Given the description of an element on the screen output the (x, y) to click on. 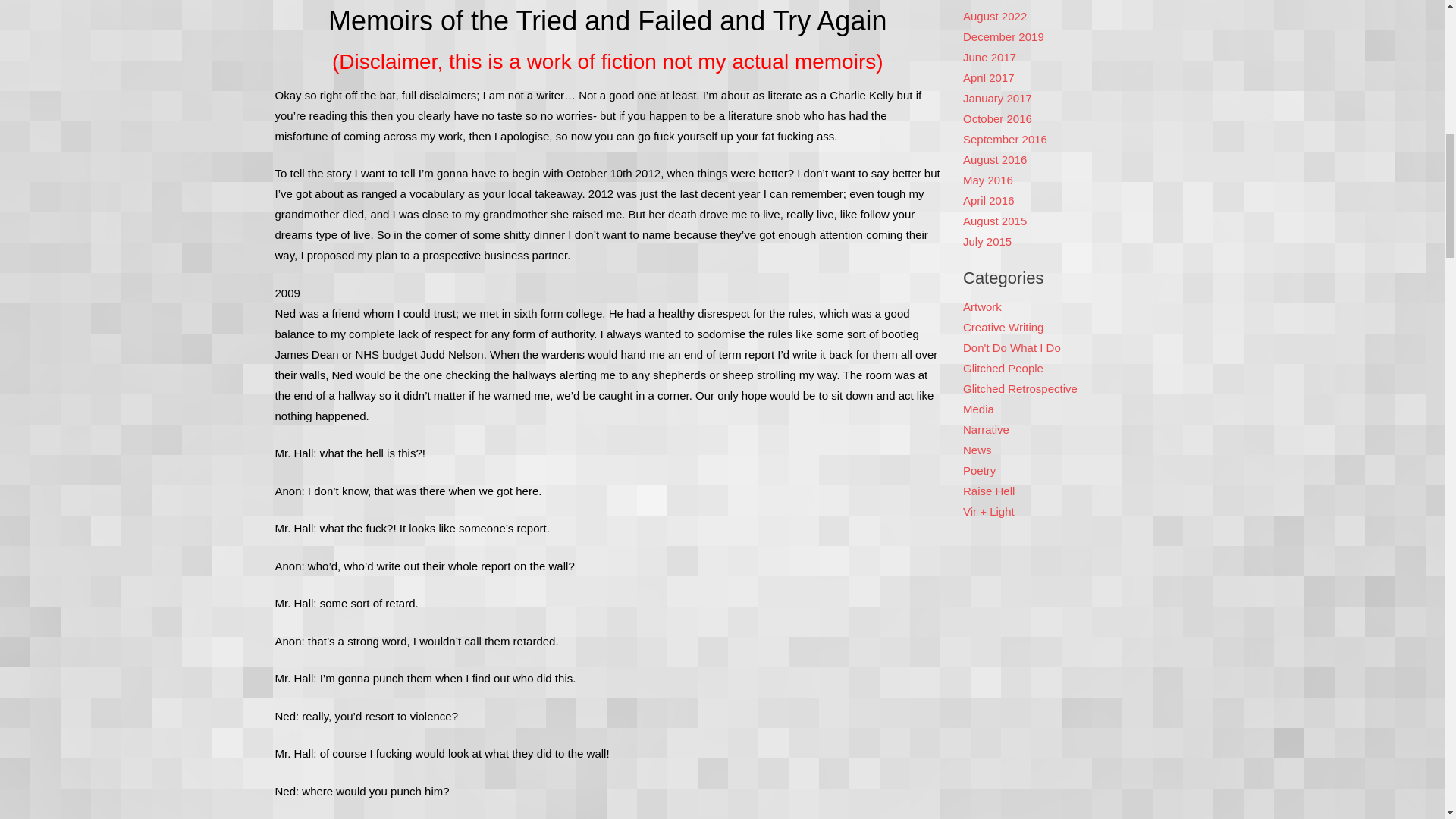
August 2022 (994, 15)
Don't Do What I Do (1011, 347)
December 2019 (1002, 36)
January 2017 (997, 97)
May 2016 (987, 178)
April 2017 (988, 77)
April 2016 (988, 200)
Artwork (981, 306)
September 2016 (1004, 137)
July 2015 (986, 241)
